Given the description of an element on the screen output the (x, y) to click on. 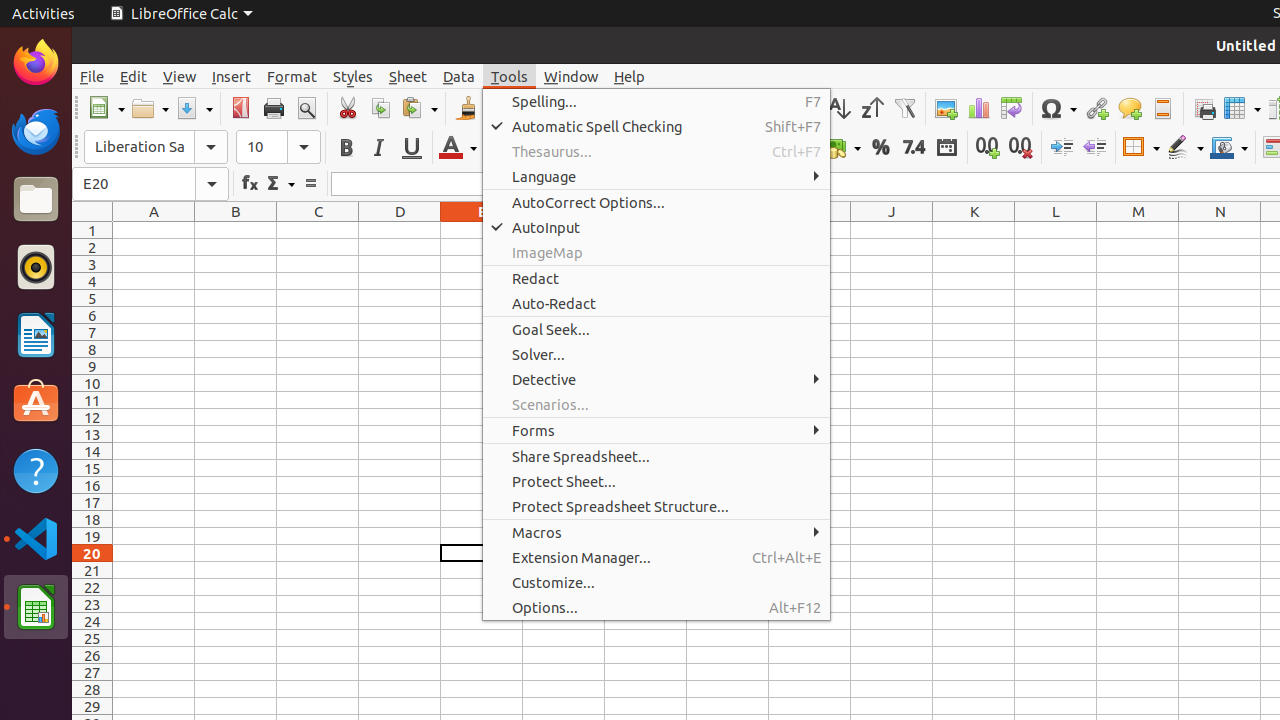
Border Style Element type: push-button (1185, 147)
Styles Element type: menu (353, 76)
Symbol Element type: push-button (1058, 108)
Increase Element type: push-button (1061, 147)
Select Function Element type: push-button (280, 183)
